Given the description of an element on the screen output the (x, y) to click on. 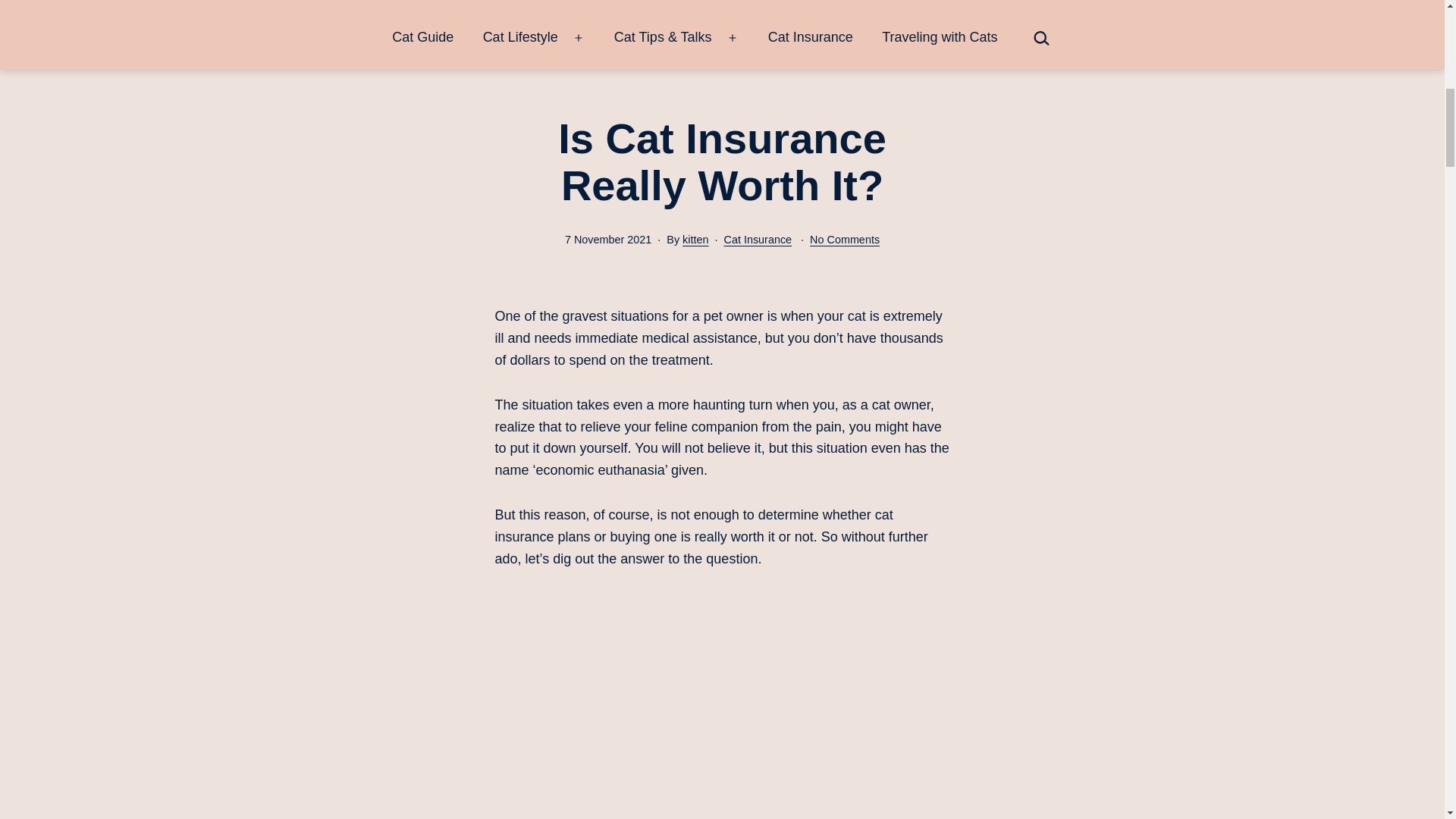
kitten (694, 239)
Cat Insurance (757, 239)
